Given the description of an element on the screen output the (x, y) to click on. 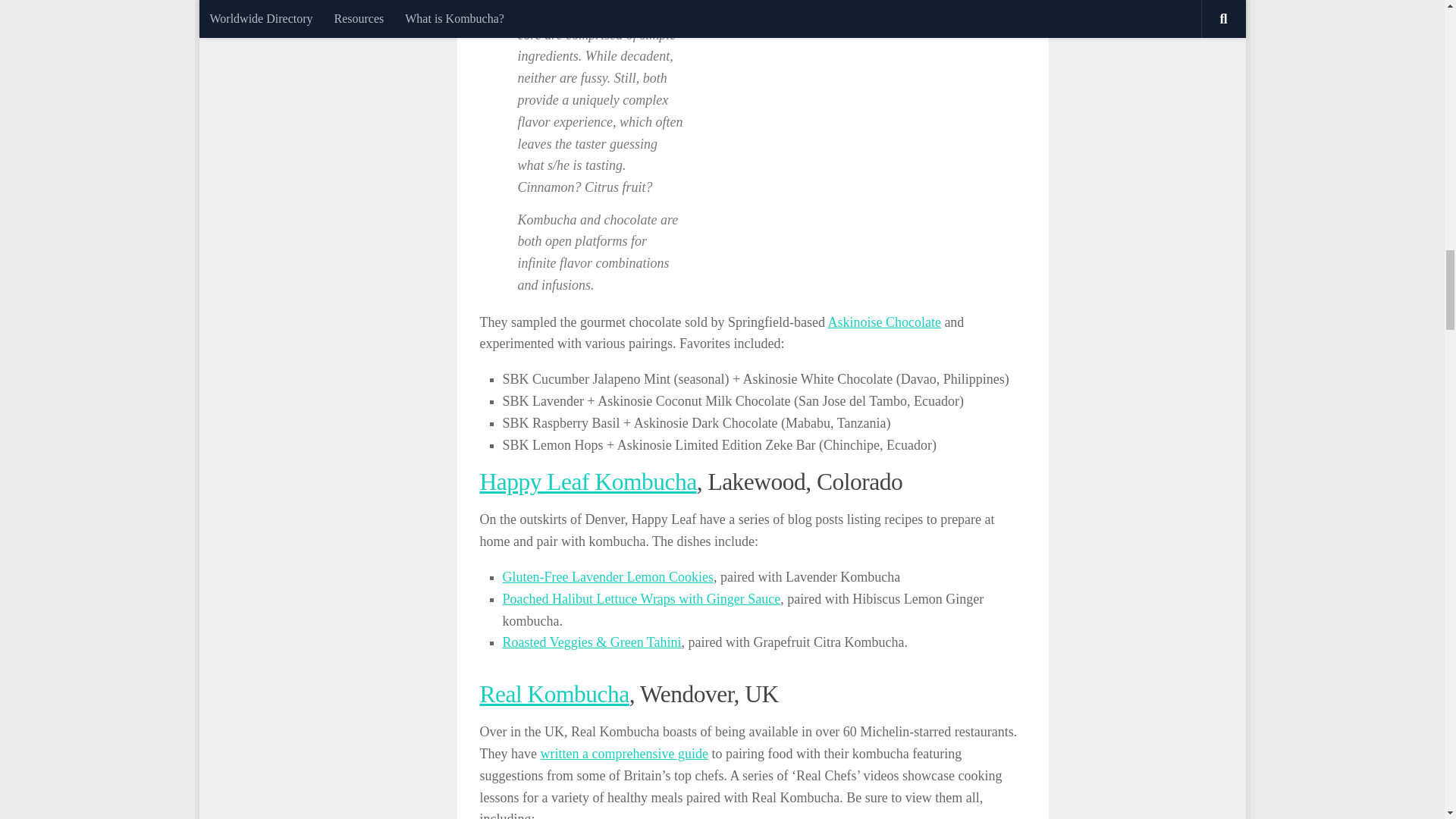
Gluten-Free Lavender Lemon Cookies (607, 576)
Askinoise Chocolate (883, 322)
Real Kombucha (553, 693)
Poached Halibut Lettuce Wraps with Ginger Sauce (641, 598)
written a comprehensive guide (623, 753)
Happy Leaf Kombucha (587, 481)
